Given the description of an element on the screen output the (x, y) to click on. 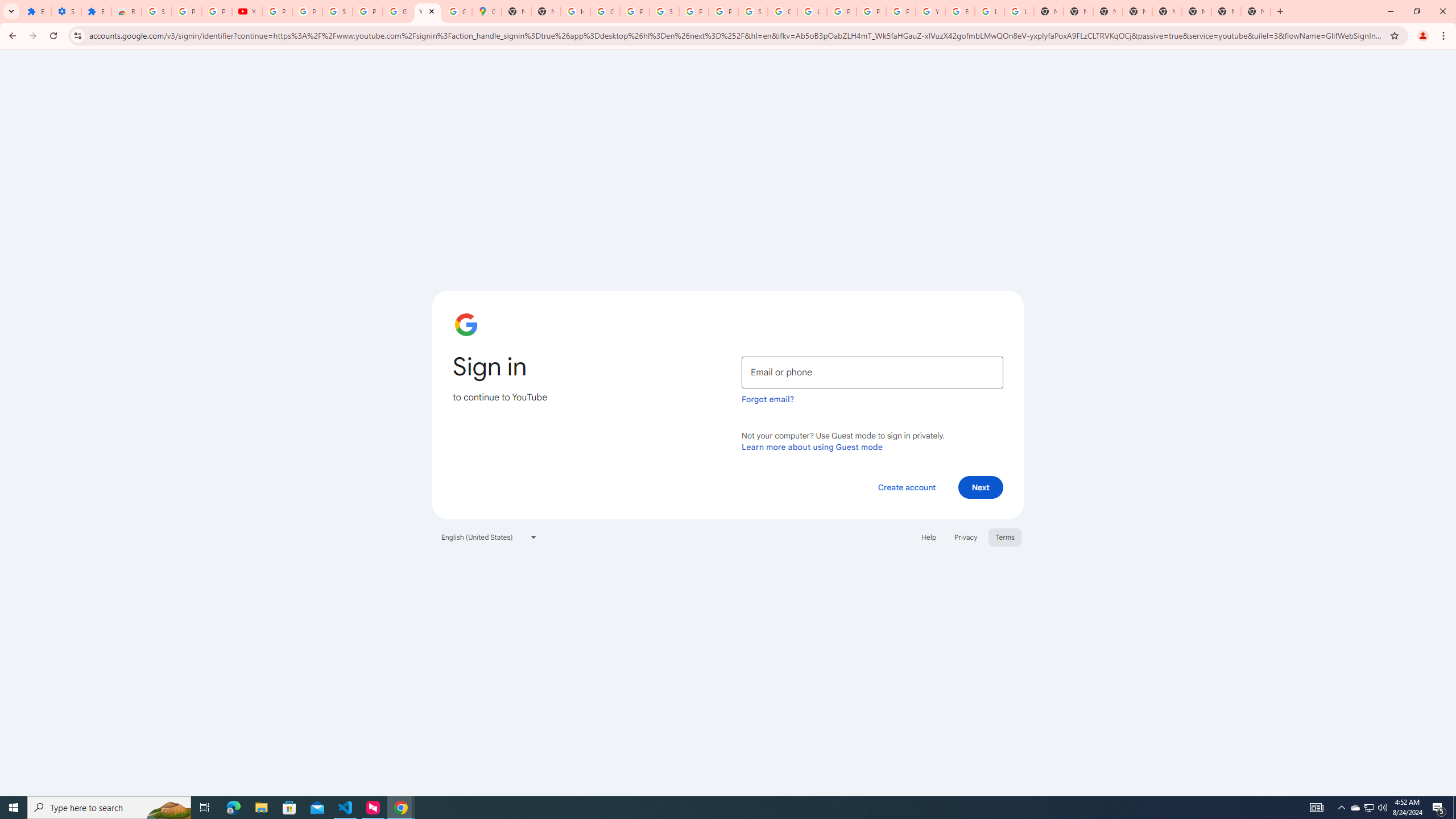
Privacy Help Center - Policies Help (841, 11)
Reviews: Helix Fruit Jump Arcade Game (126, 11)
YouTube (426, 11)
Forgot email? (767, 398)
Sign in - Google Accounts (337, 11)
